Given the description of an element on the screen output the (x, y) to click on. 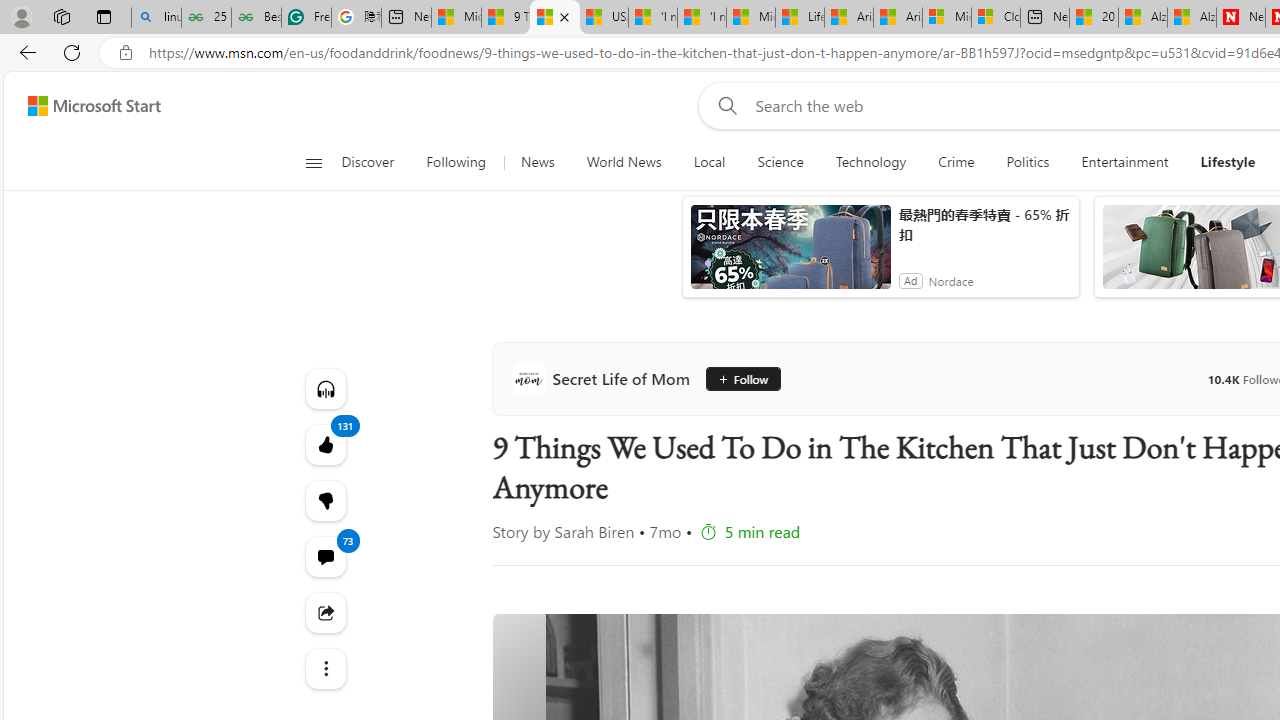
Free AI Writing Assistance for Students | Grammarly (306, 17)
Cloud Computing Services | Microsoft Azure (995, 17)
Lifestyle - MSN (799, 17)
